Given the description of an element on the screen output the (x, y) to click on. 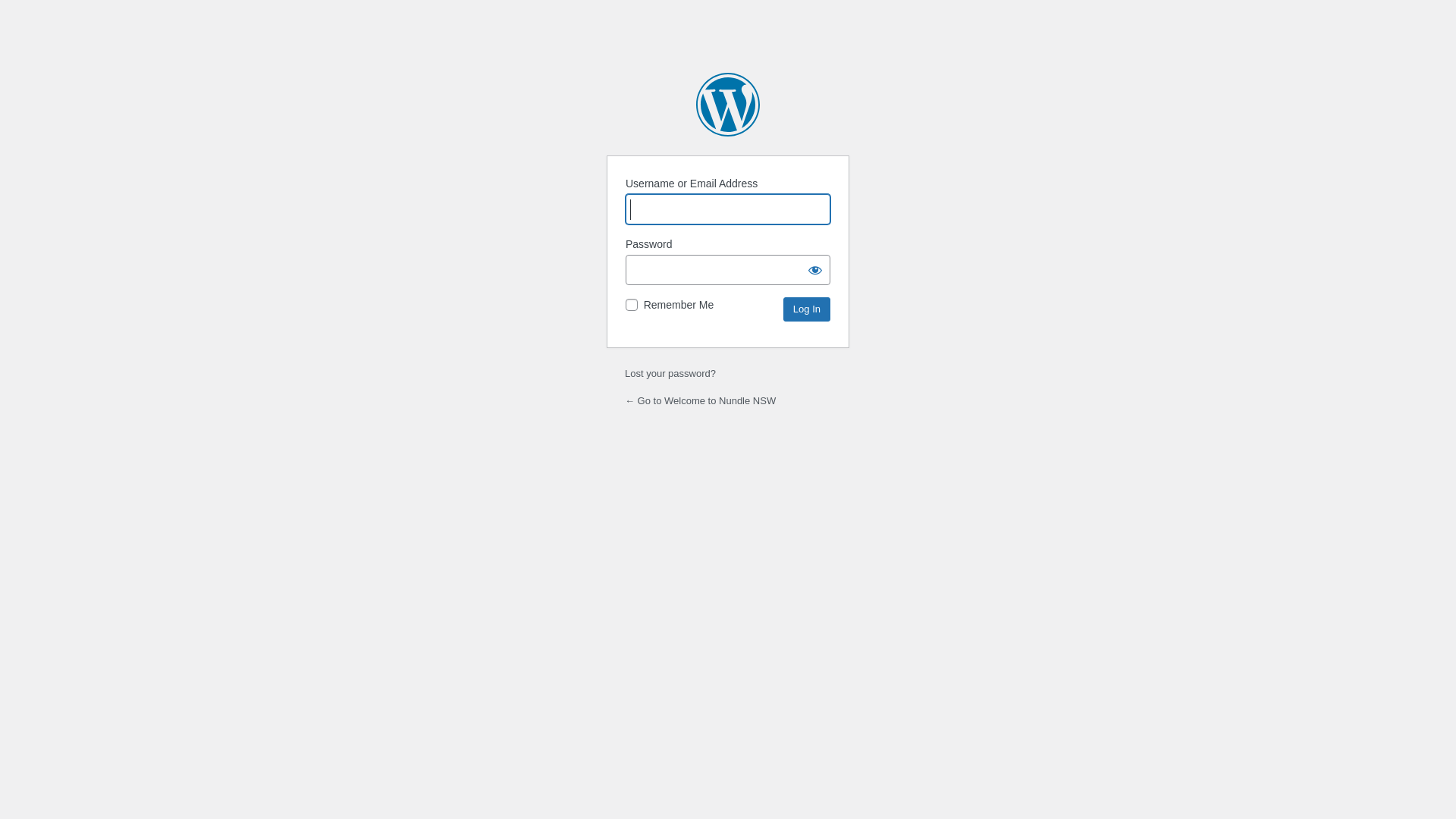
Log In Element type: text (806, 309)
Powered by WordPress Element type: text (727, 104)
Lost your password? Element type: text (669, 373)
